Given the description of an element on the screen output the (x, y) to click on. 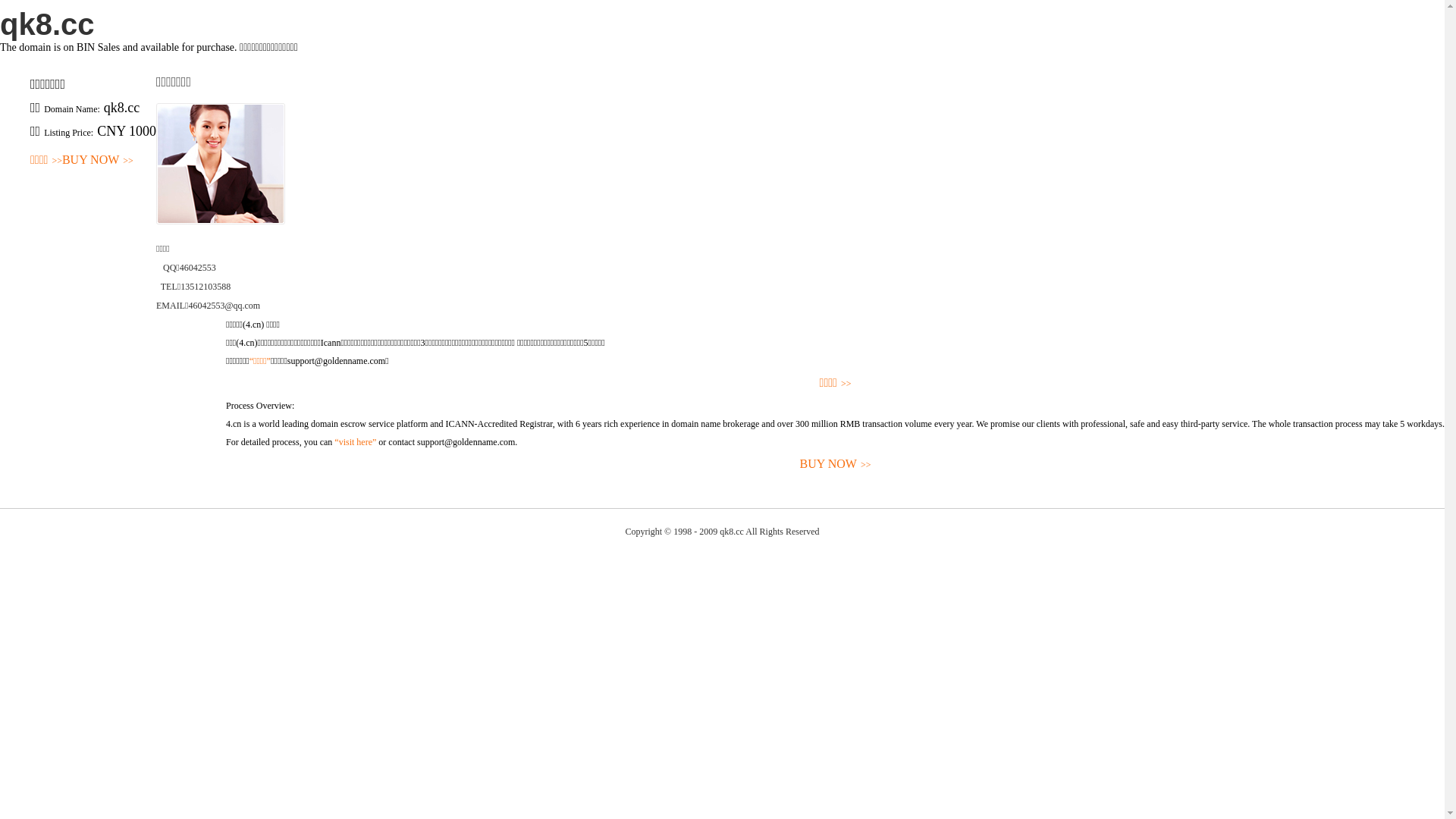
BUY NOW>> Element type: text (97, 160)
BUY NOW>> Element type: text (834, 464)
